Given the description of an element on the screen output the (x, y) to click on. 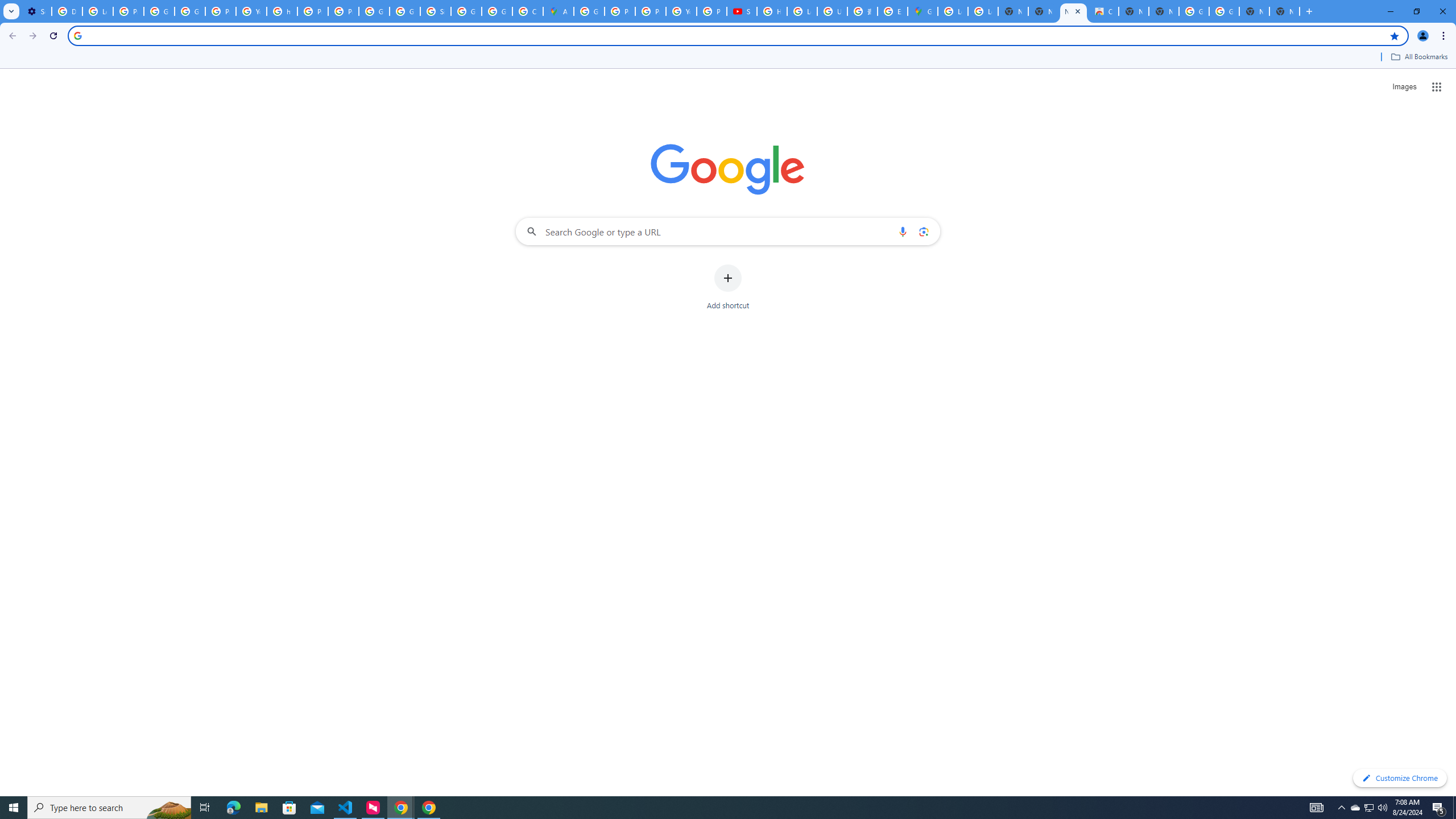
Sign in - Google Accounts (434, 11)
Settings - Performance (36, 11)
Chrome Web Store (1103, 11)
Customize Chrome (1399, 778)
Privacy Help Center - Policies Help (650, 11)
Google Account Help (158, 11)
Google Images (1224, 11)
